Given the description of an element on the screen output the (x, y) to click on. 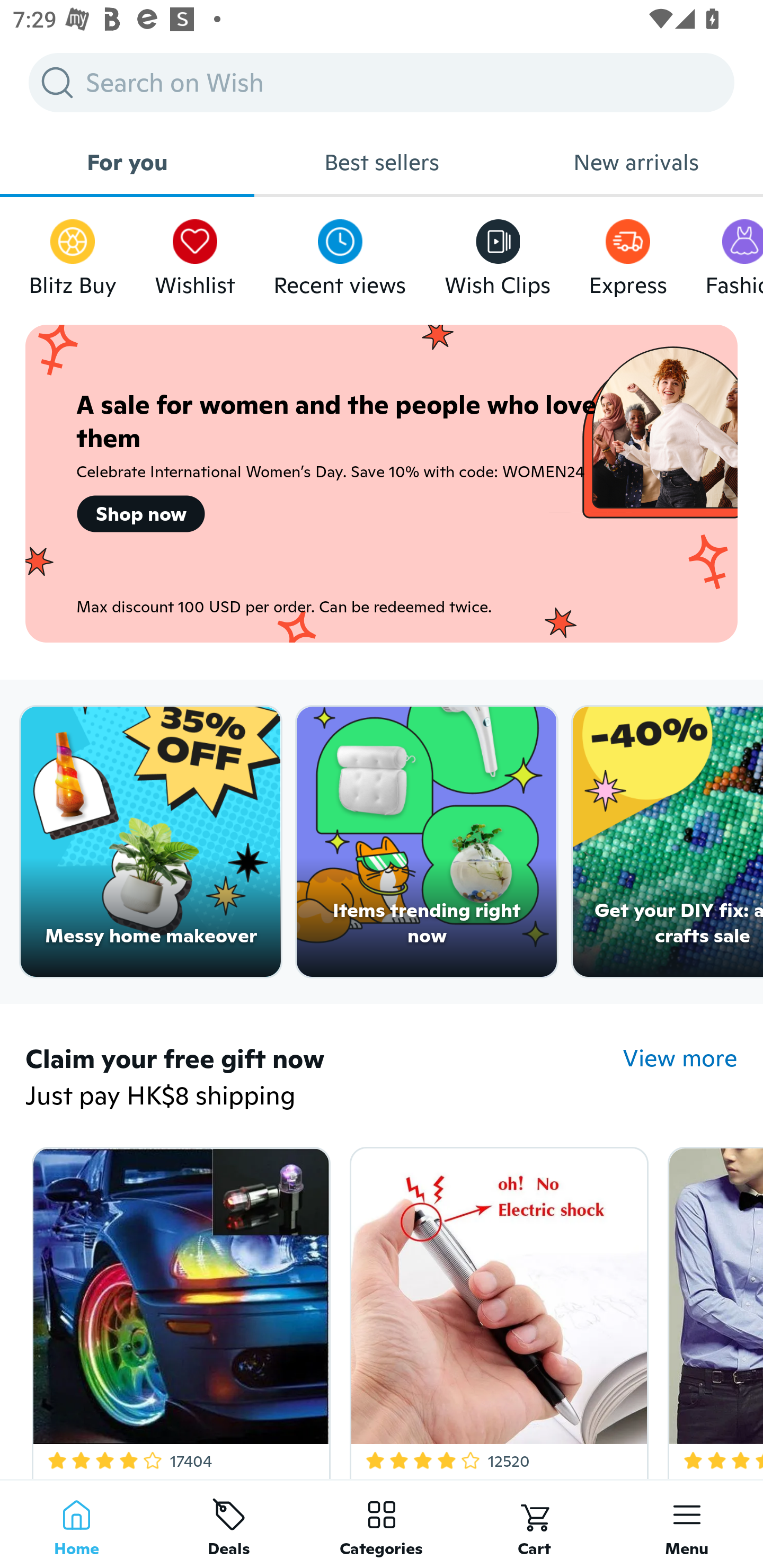
Search on Wish (381, 82)
For you (127, 161)
Best sellers (381, 161)
New arrivals (635, 161)
Blitz Buy (72, 252)
Wishlist (194, 252)
Recent views (339, 252)
Wish Clips (497, 252)
Express (627, 252)
Fashion (734, 252)
Messy home makeover (150, 841)
Items trending right now (426, 841)
Get your DIY fix: arts & crafts sale (668, 841)
Claim your free gift now
Just pay HK$8 shipping (323, 1078)
View more (679, 1058)
3.8 Star Rating 17404 Free (177, 1308)
3.9 Star Rating 12520 Free (495, 1308)
Home (76, 1523)
Deals (228, 1523)
Categories (381, 1523)
Cart (533, 1523)
Menu (686, 1523)
